Given the description of an element on the screen output the (x, y) to click on. 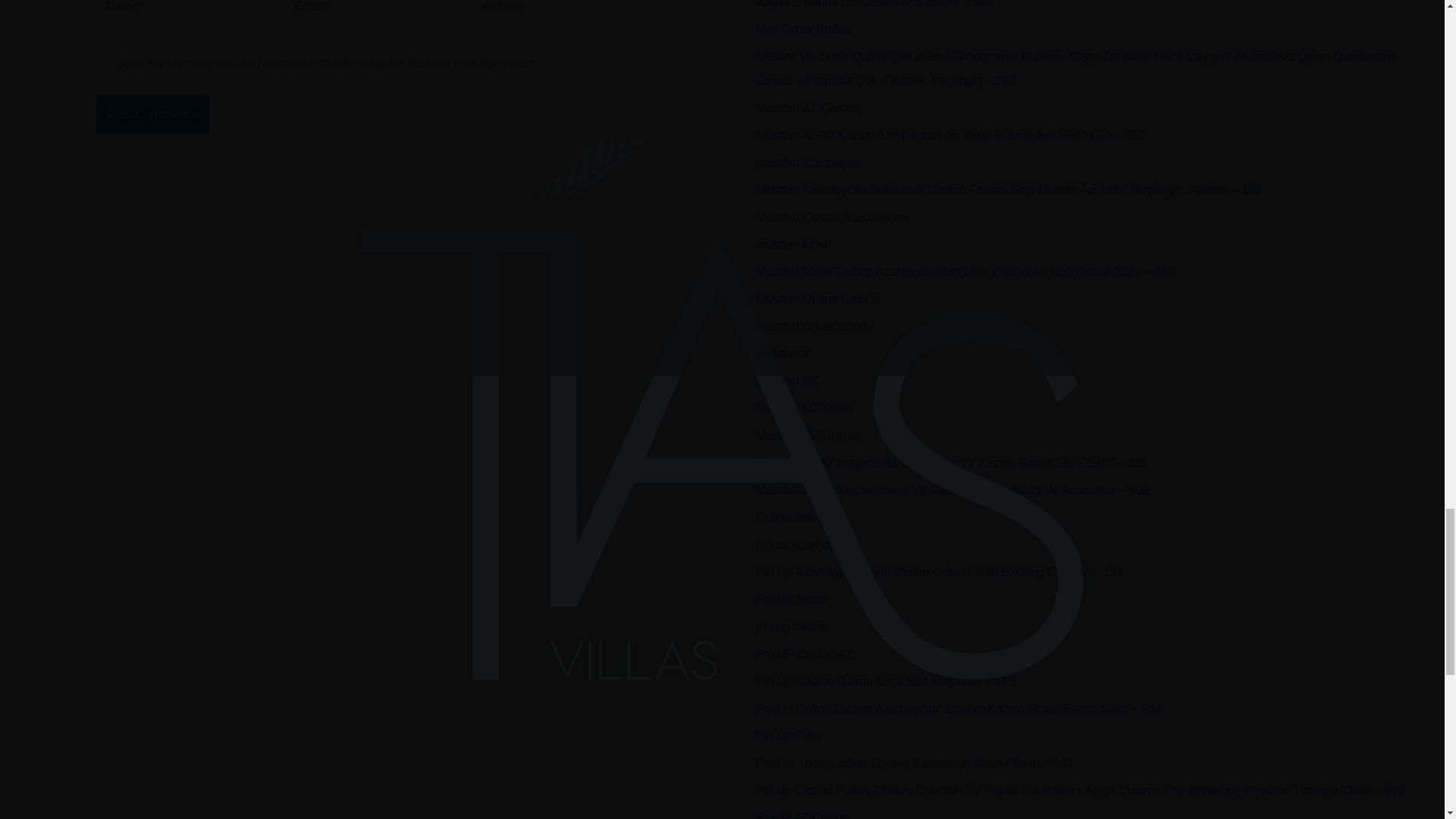
yes (101, 62)
